Given the description of an element on the screen output the (x, y) to click on. 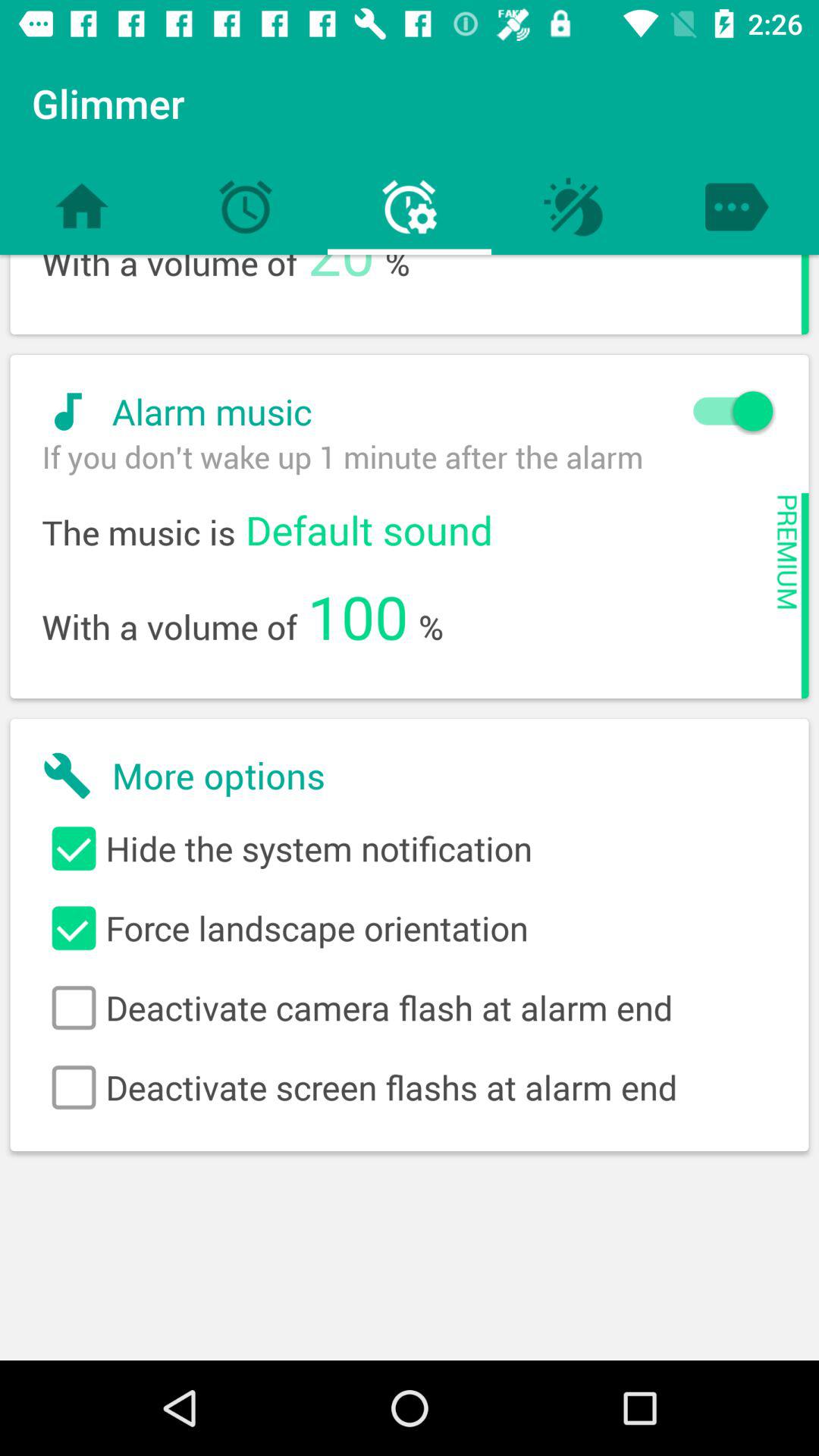
select the icon above alarm music icon (341, 278)
